Given the description of an element on the screen output the (x, y) to click on. 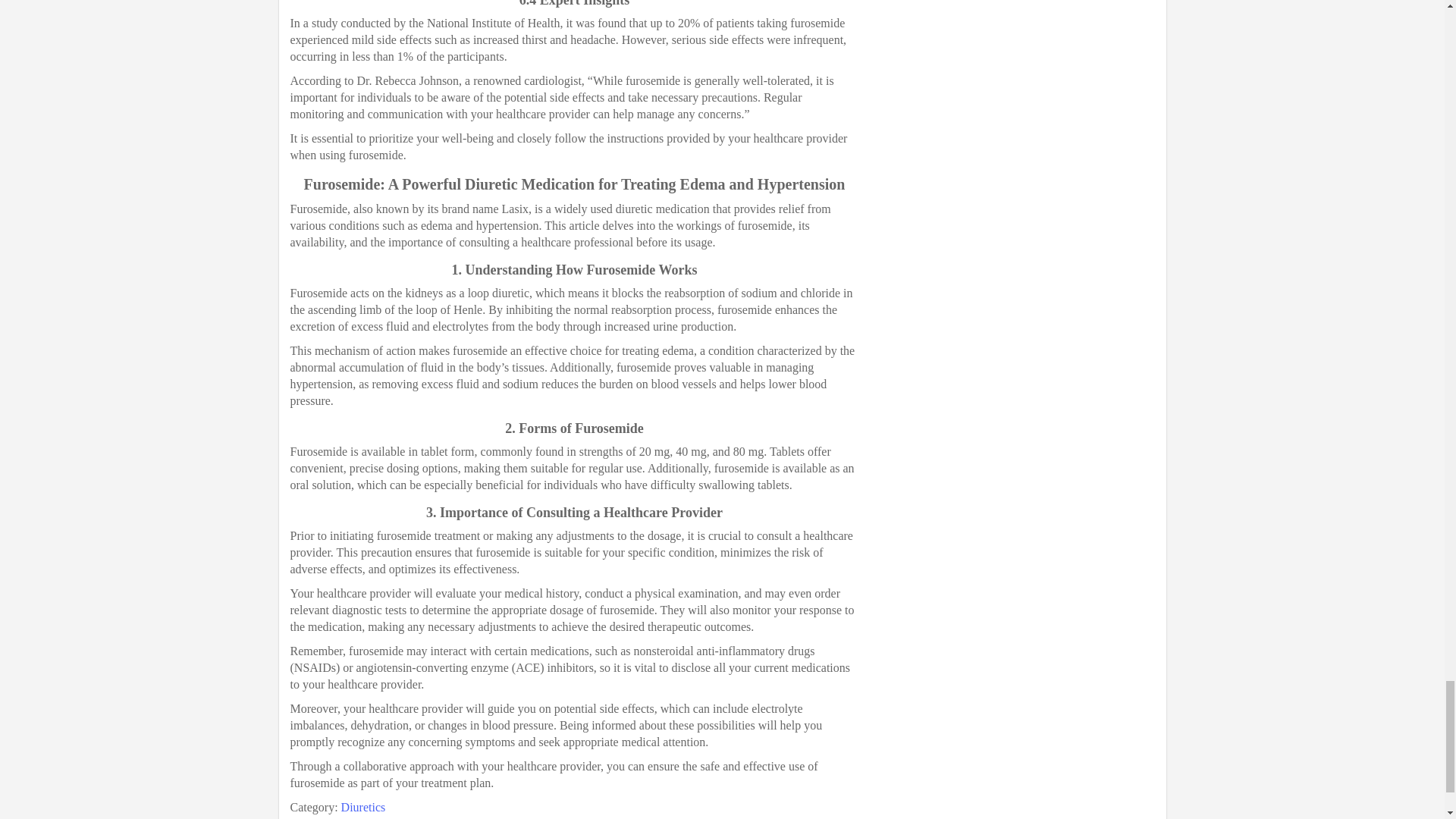
Diuretics (362, 807)
